Given the description of an element on the screen output the (x, y) to click on. 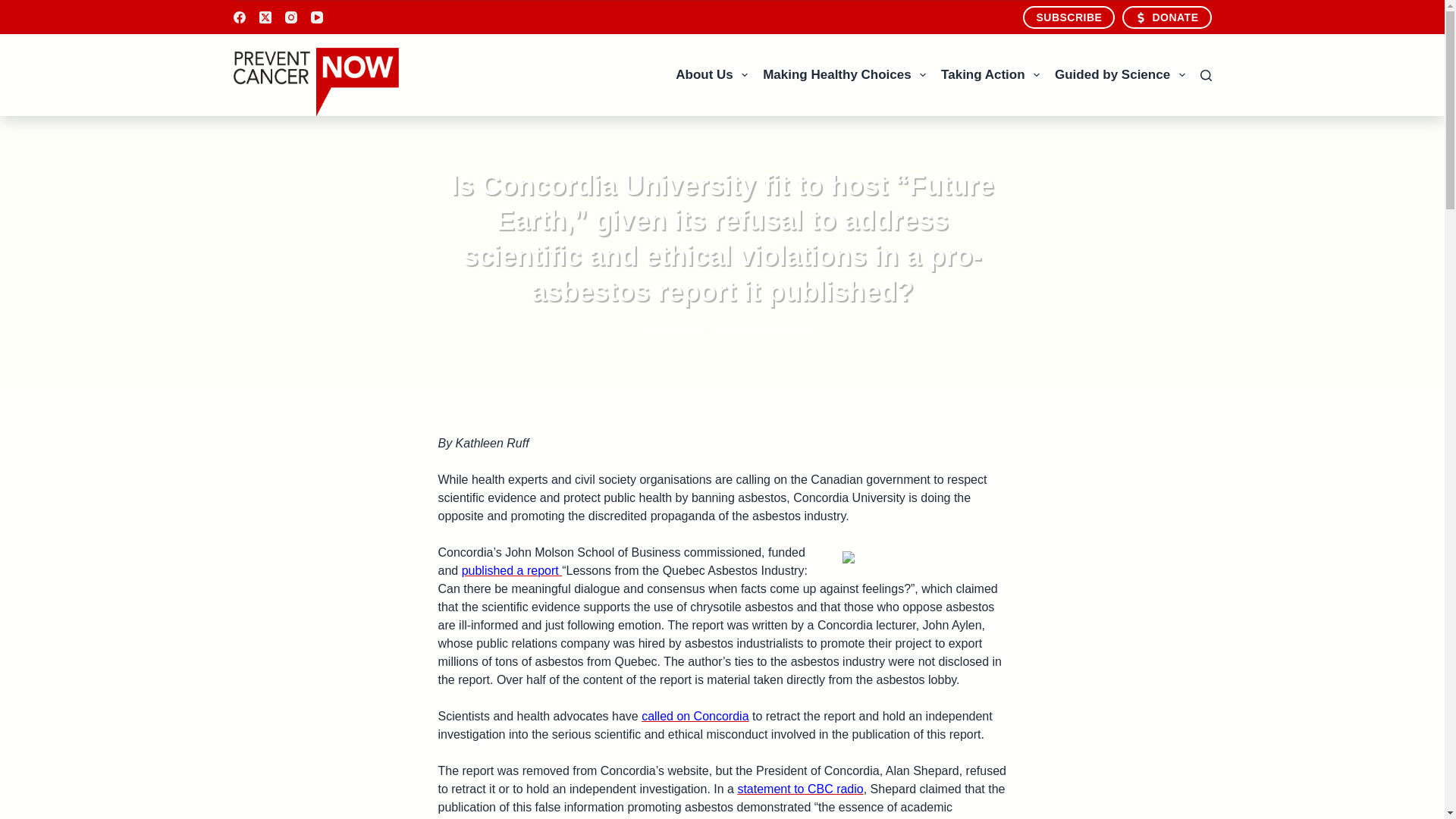
Skip to content (15, 7)
